Given the description of an element on the screen output the (x, y) to click on. 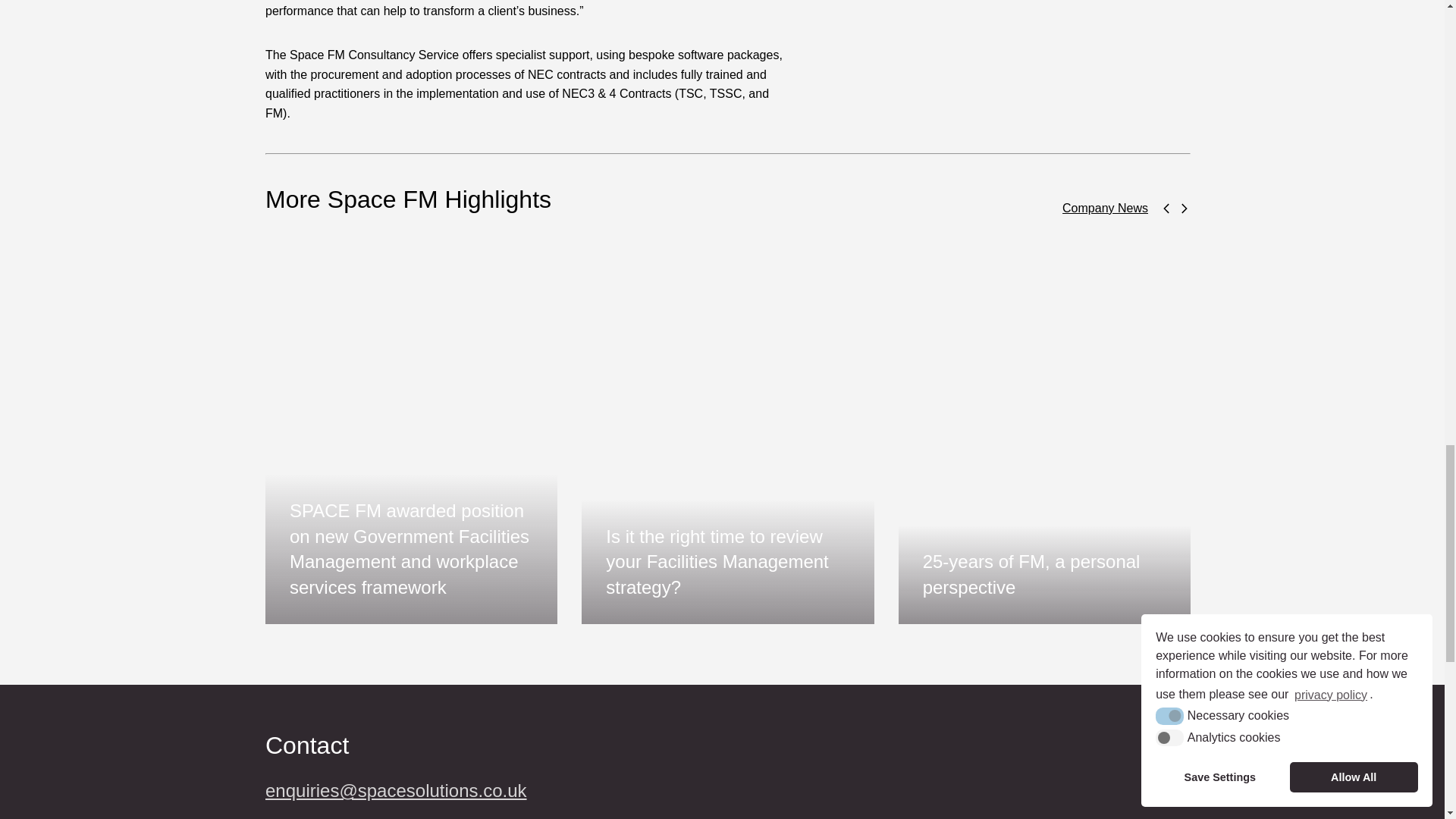
Company News (1105, 208)
